Given the description of an element on the screen output the (x, y) to click on. 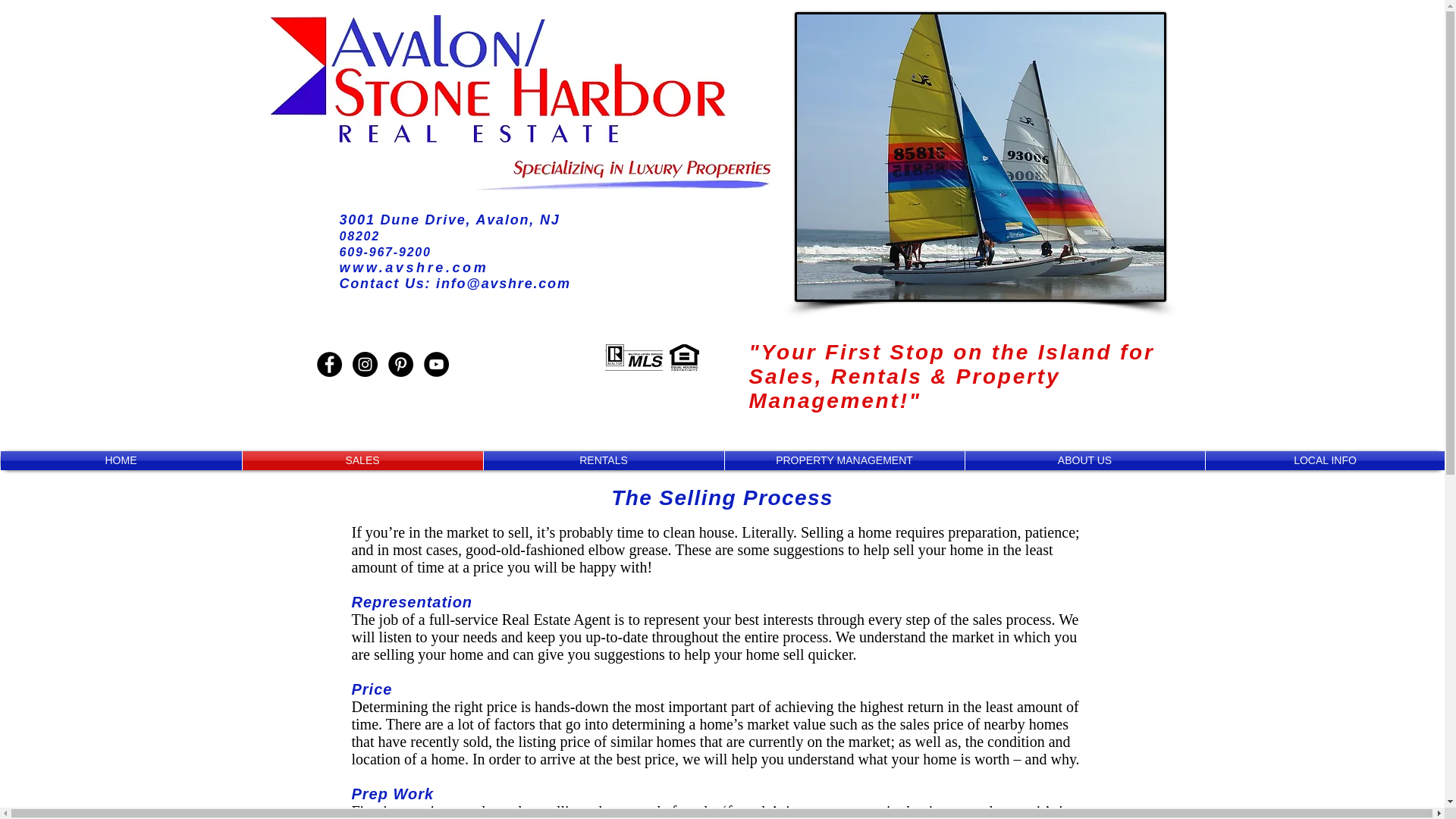
www.avshre.com (414, 267)
HOME (120, 460)
RENTALS (603, 460)
SALES (363, 460)
PROPERTY MANAGEMENT (844, 460)
ABOUT US (1083, 460)
